Given the description of an element on the screen output the (x, y) to click on. 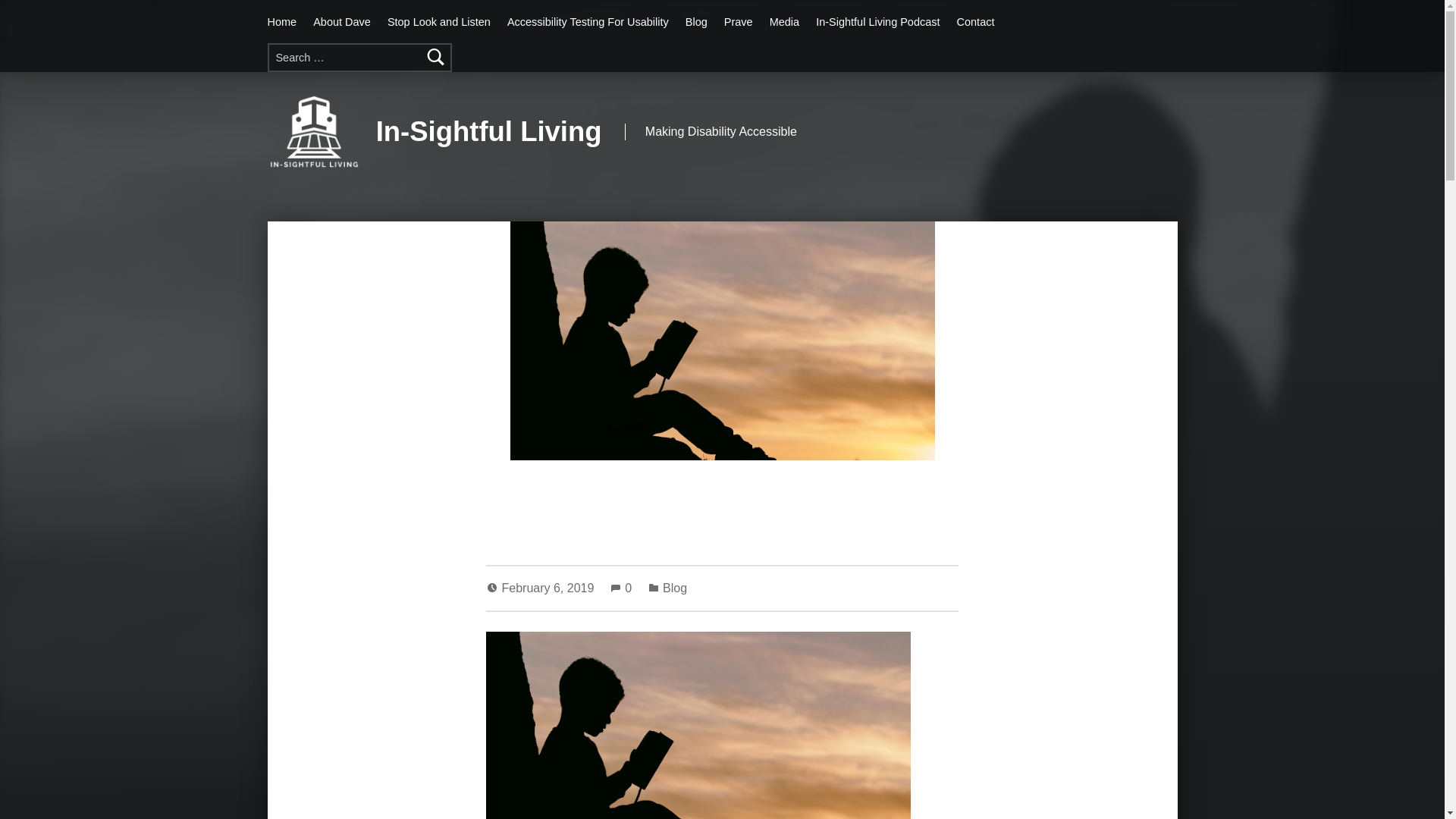
COMMENTS: 0 (622, 587)
Search (437, 57)
February 6, 2019 (549, 587)
Blog (674, 587)
In-Sightful Living (488, 131)
Search (437, 57)
Accessibility Testing For Usability (587, 21)
In-Sightful Living Podcast (877, 21)
Search (437, 57)
Comments: 0 (622, 587)
